Given the description of an element on the screen output the (x, y) to click on. 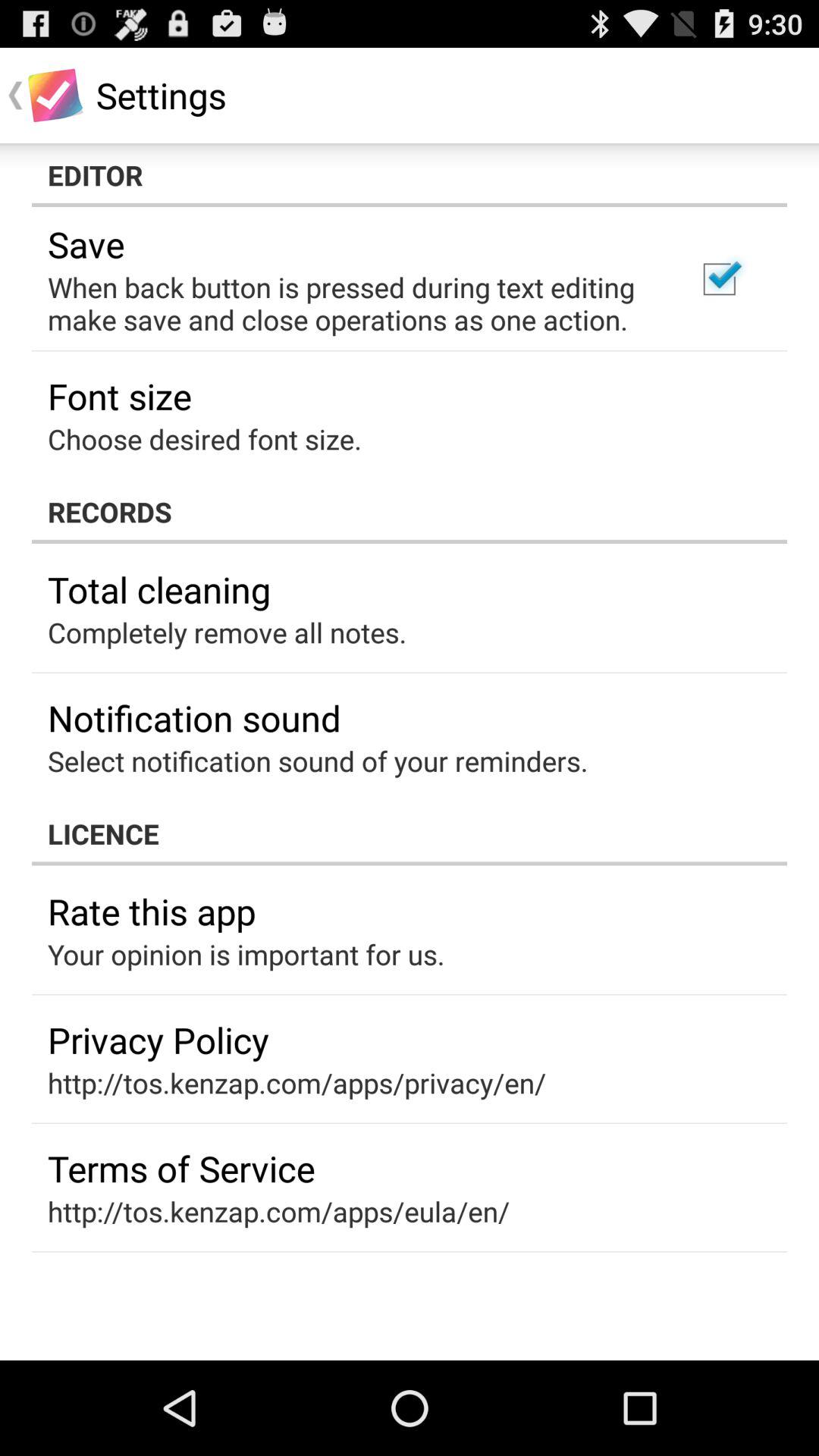
turn off icon above the privacy policy (245, 954)
